Given the description of an element on the screen output the (x, y) to click on. 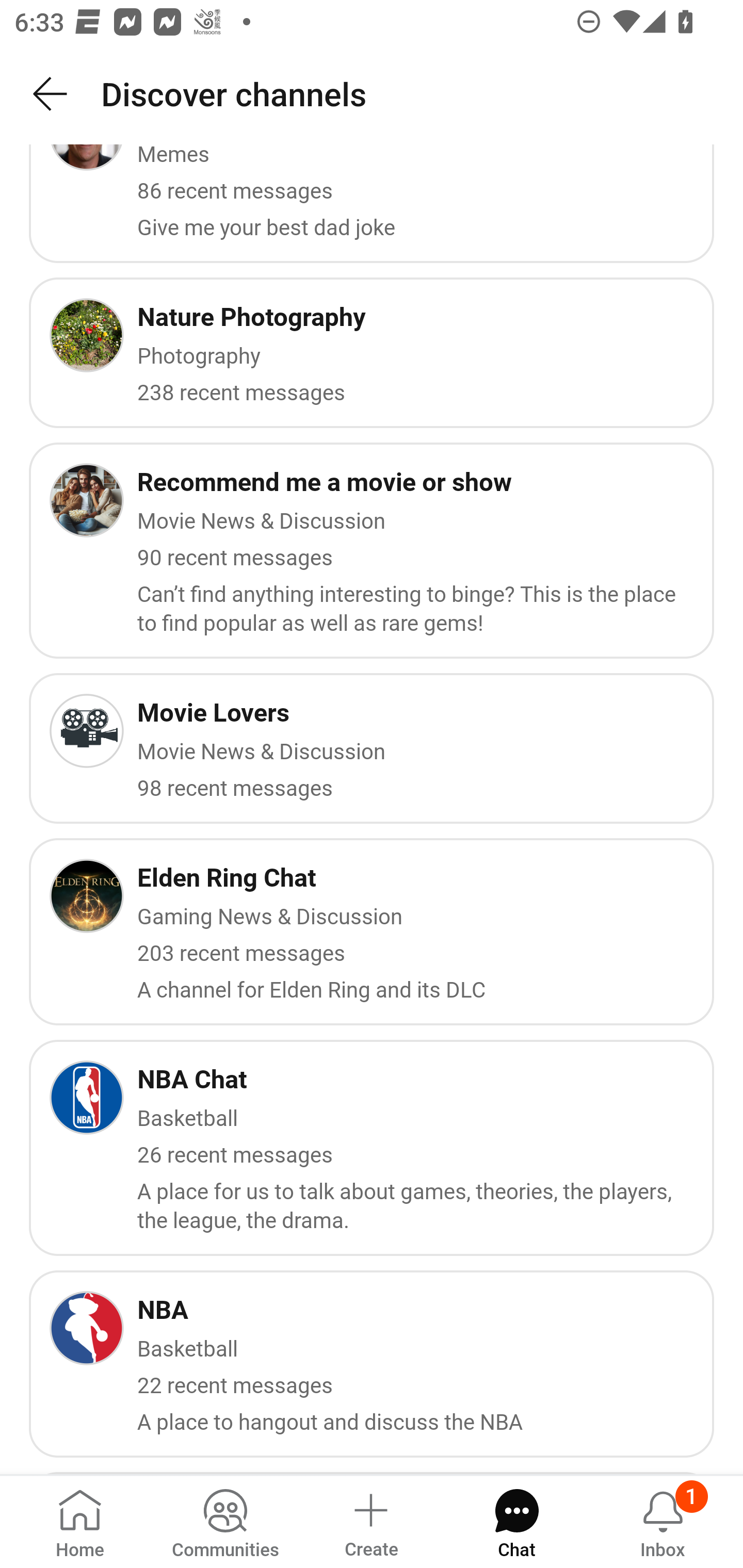
Back (50, 93)
Home (80, 1520)
Communities (225, 1520)
Create a post Create (370, 1520)
Chat (516, 1520)
Inbox, has 1 notification 1 Inbox (662, 1520)
